Given the description of an element on the screen output the (x, y) to click on. 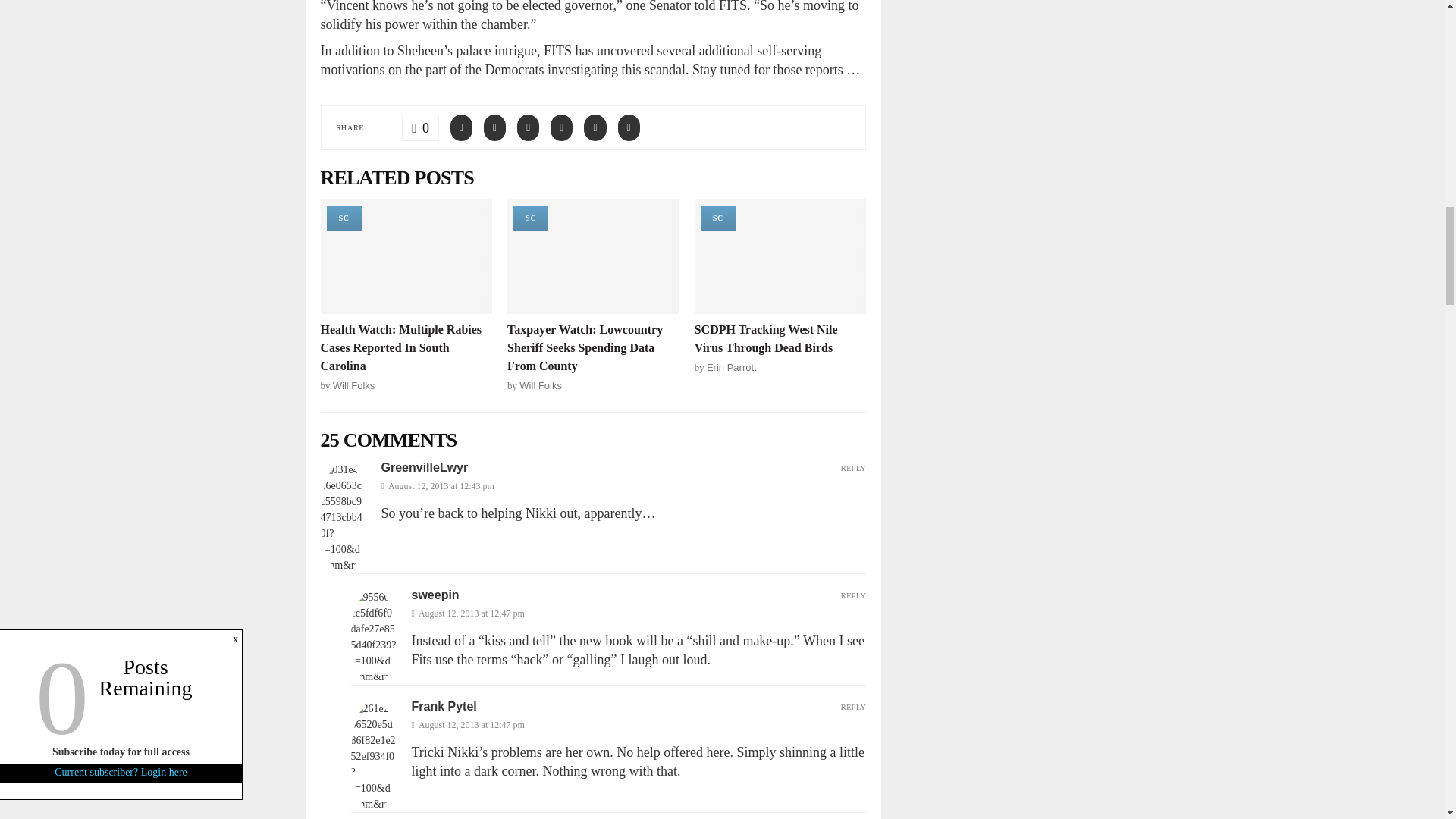
Like (420, 127)
